Given the description of an element on the screen output the (x, y) to click on. 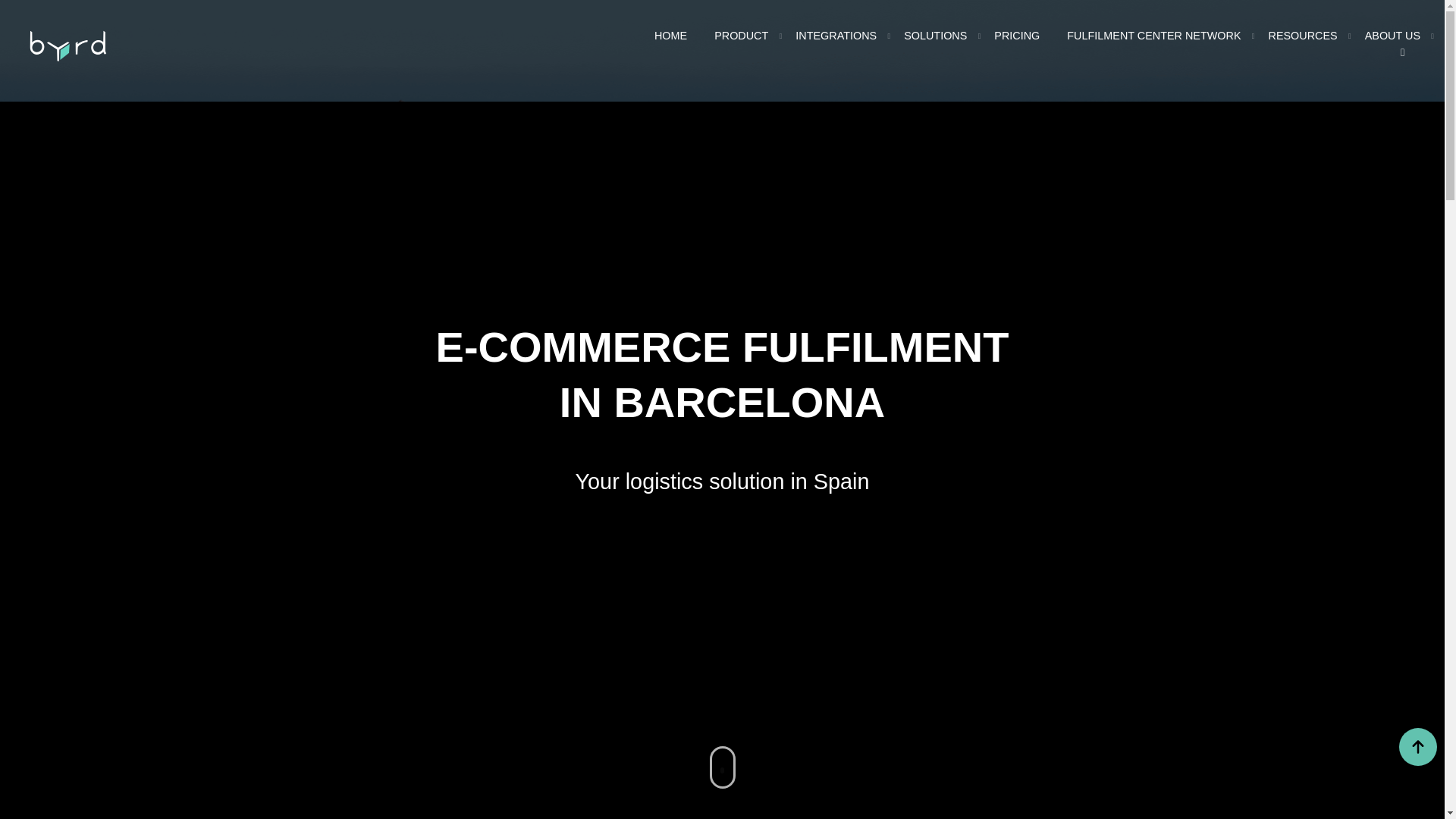
INTEGRATIONS (835, 36)
SOLUTIONS (935, 36)
RESOURCES (1303, 36)
PRICING (1016, 36)
HOME (670, 36)
Getbyrd (68, 44)
PRODUCT (741, 36)
FULFILMENT CENTER NETWORK (1153, 36)
